Given the description of an element on the screen output the (x, y) to click on. 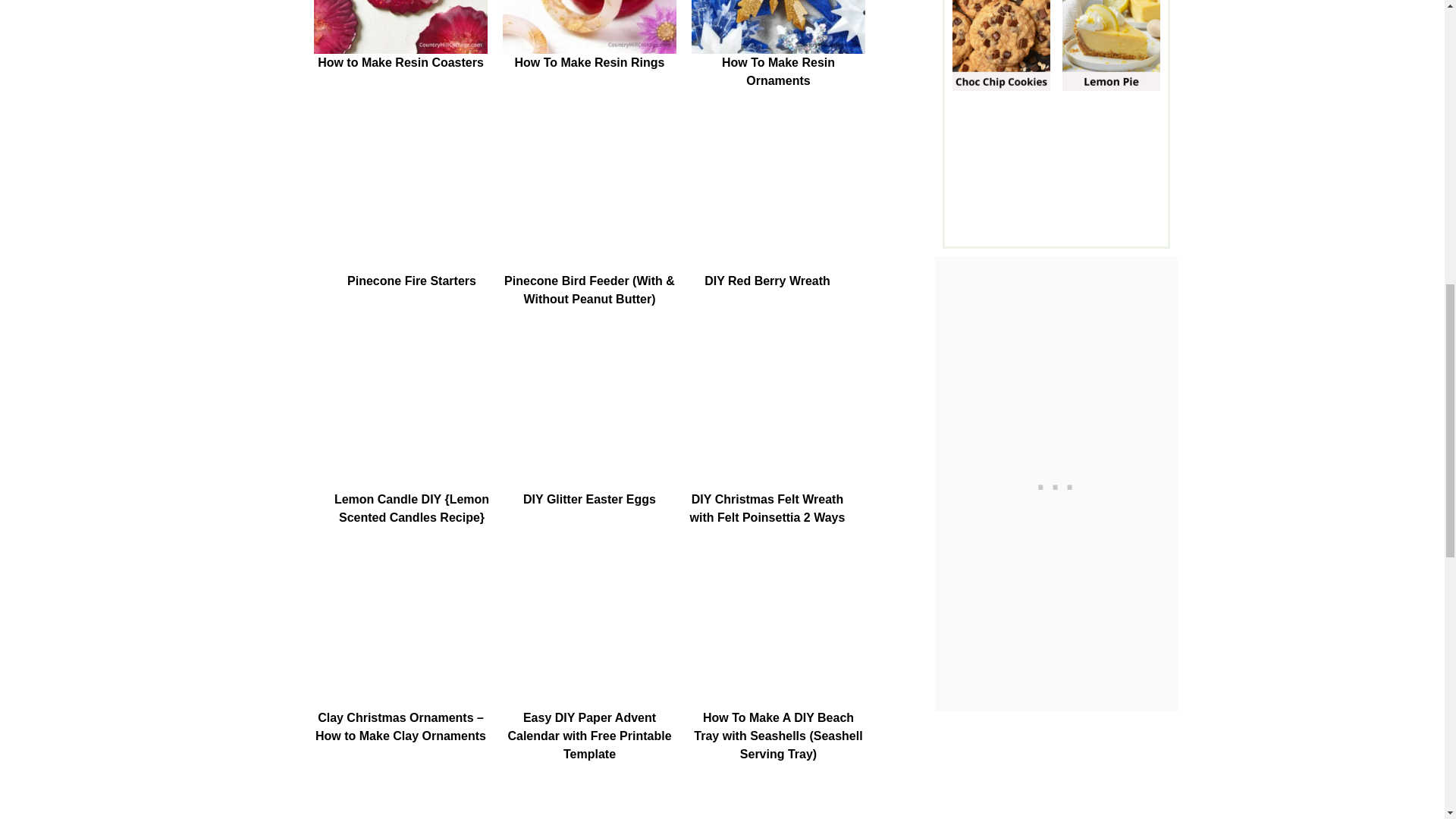
How To Make Resin Rings (589, 27)
DIY Red Berry Wreath (767, 195)
How to Make Resin Coasters (400, 27)
DIY Glitter Easter Eggs (589, 413)
How To Make Resin Ornaments (777, 27)
Pinecone Fire Starters (411, 195)
